Given the description of an element on the screen output the (x, y) to click on. 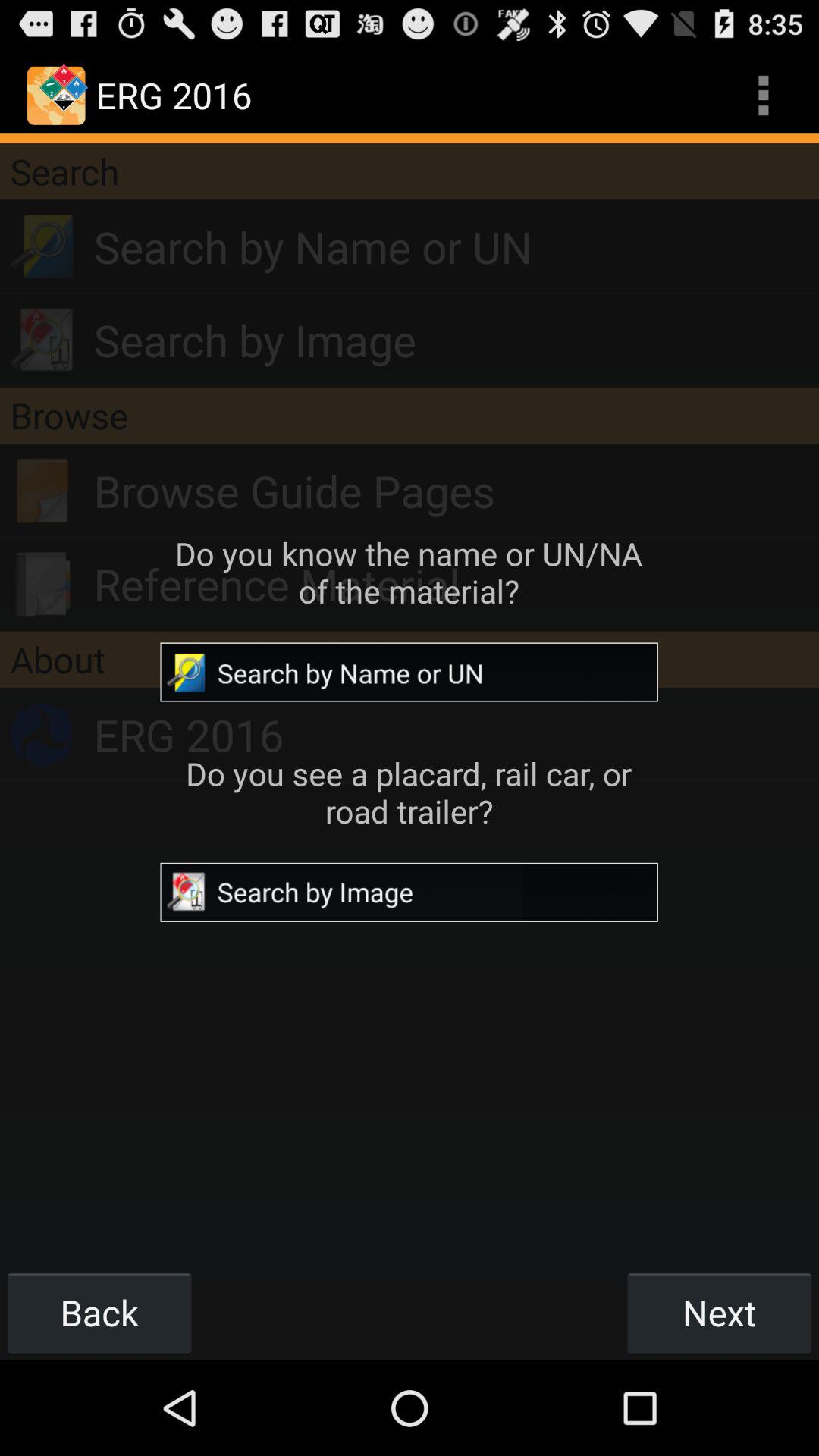
open item next to back button (719, 1312)
